Given the description of an element on the screen output the (x, y) to click on. 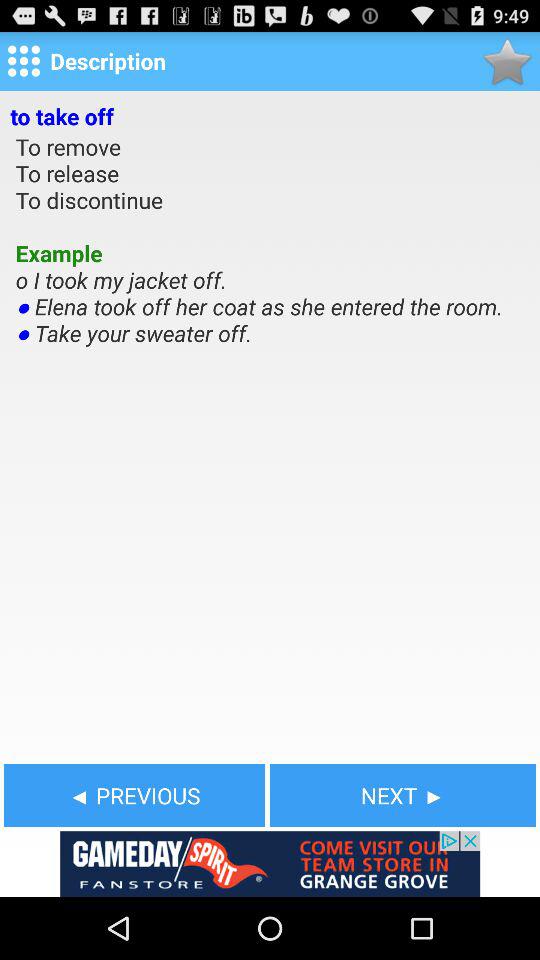
see the advertisement (270, 864)
